Given the description of an element on the screen output the (x, y) to click on. 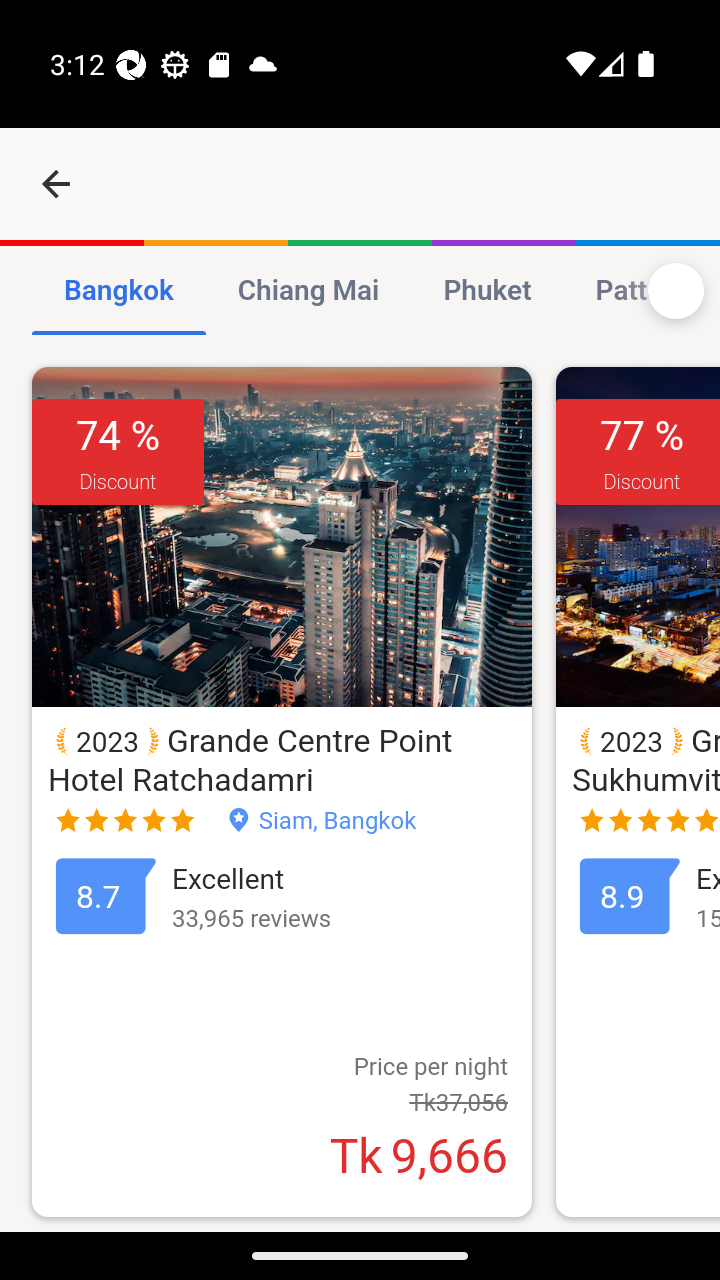
navigation_button (56, 184)
